Given the description of an element on the screen output the (x, y) to click on. 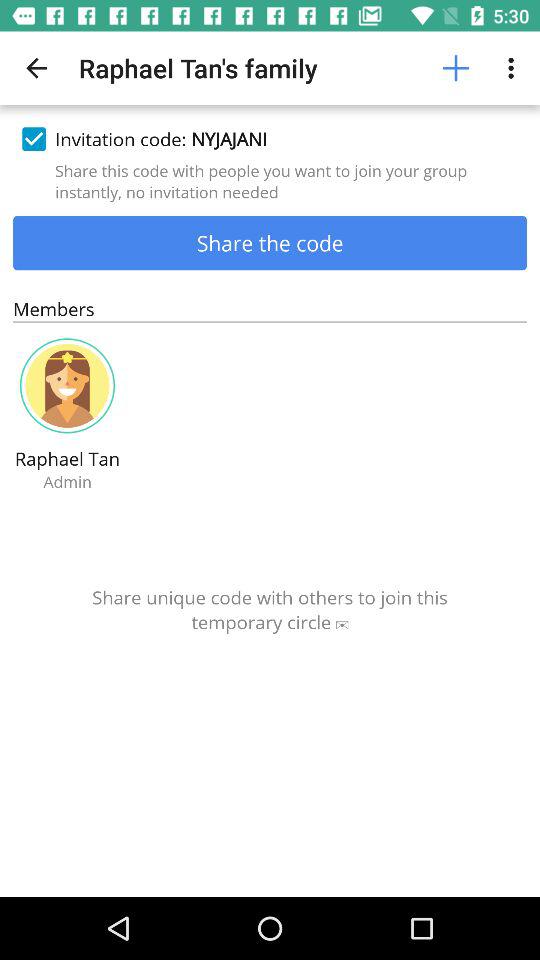
turn off icon at the top left corner (36, 68)
